Given the description of an element on the screen output the (x, y) to click on. 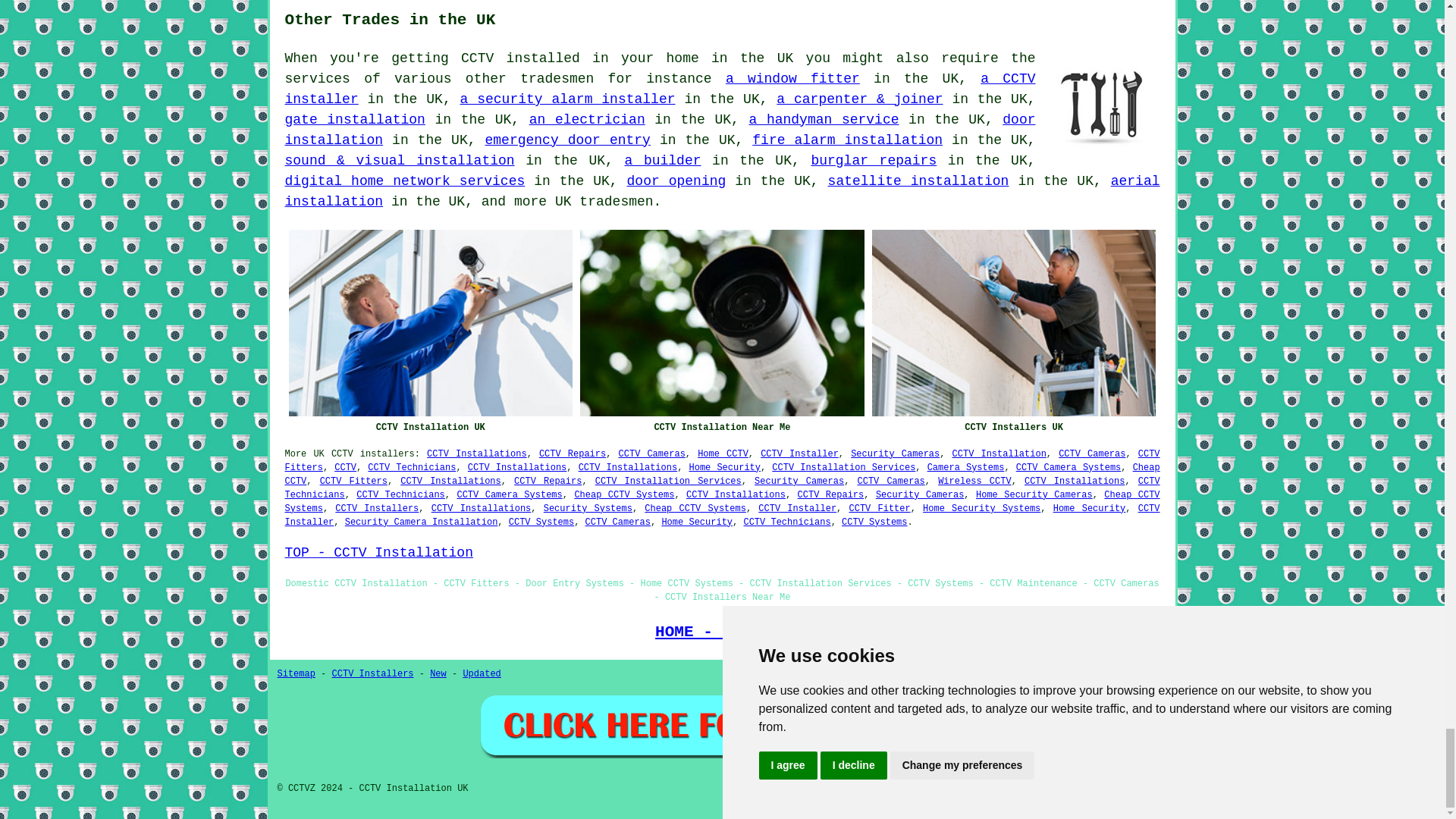
CCTV Installation UK (430, 323)
CCTV Installers UK (1014, 323)
CCTV Installation Near Me UK (721, 323)
CCTV Installation Quotes UK (722, 725)
UK CCTV Installers Near Me UK (1103, 105)
